Given the description of an element on the screen output the (x, y) to click on. 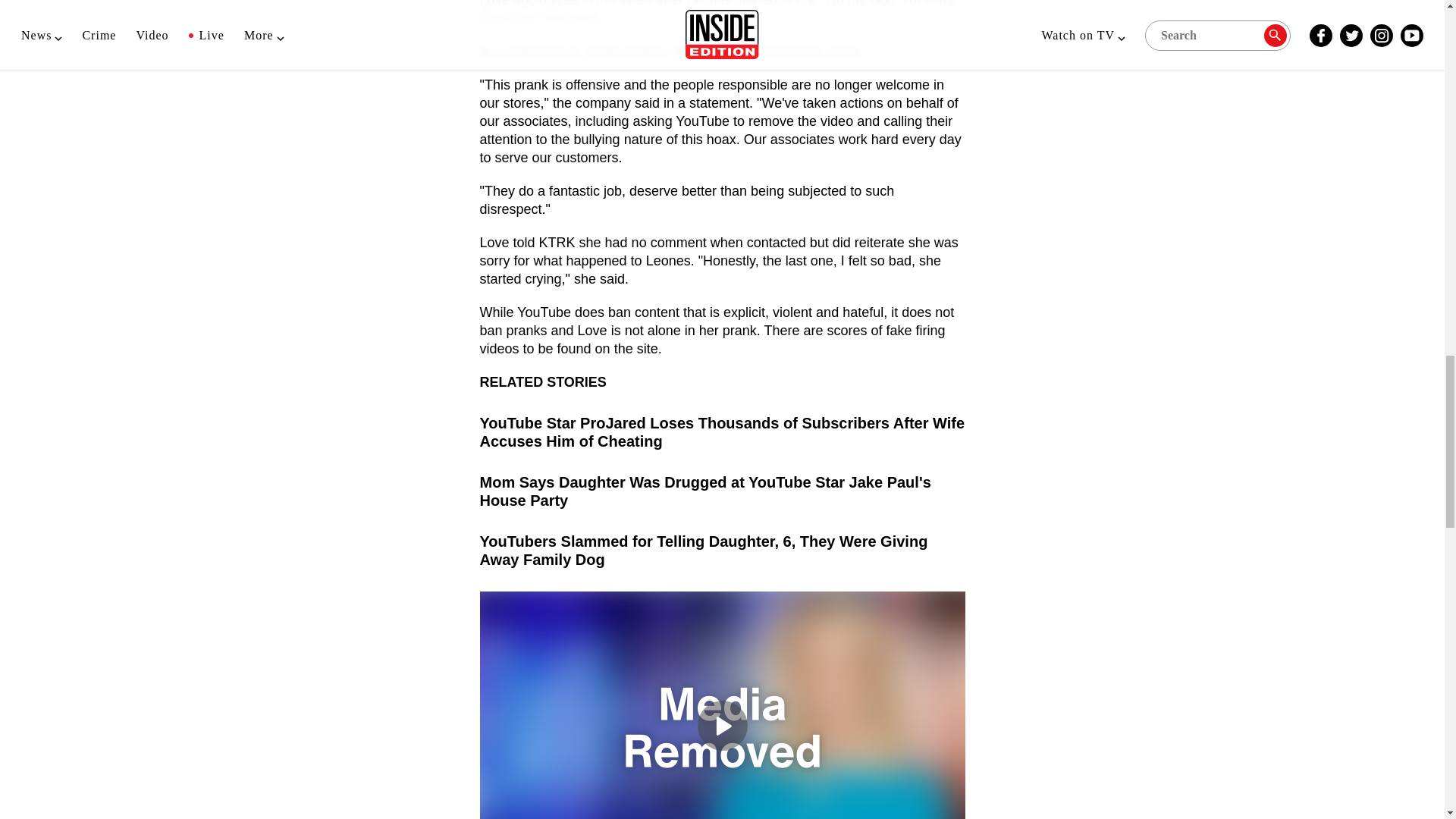
play (722, 726)
